Given the description of an element on the screen output the (x, y) to click on. 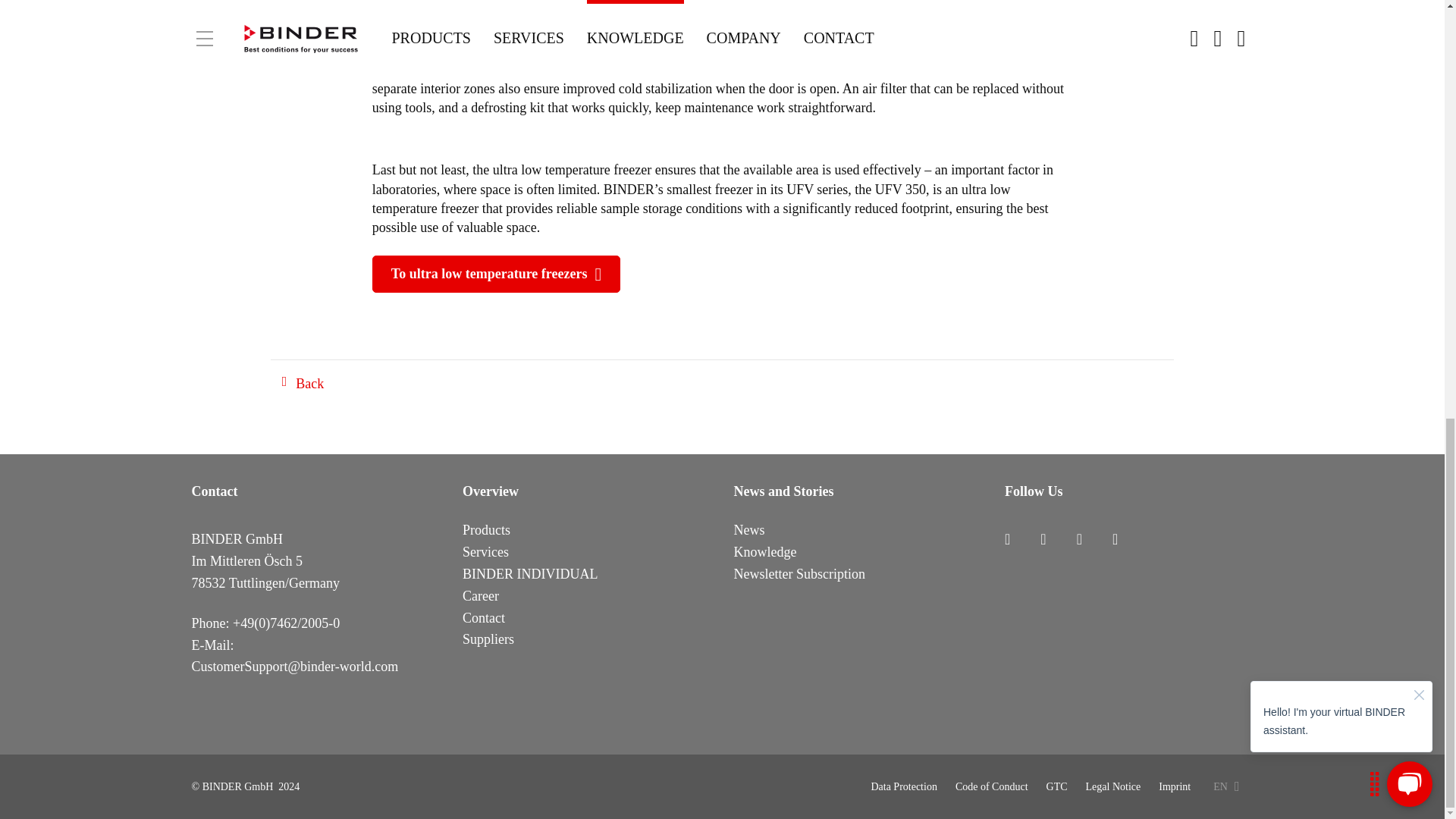
BINDER INDIVIDUAL (529, 574)
Career (481, 596)
Knowledge (764, 552)
Products (487, 530)
Contact (484, 618)
To ultra low temperature freezers (496, 273)
Legal Notice (1113, 786)
GTC (1056, 786)
Back (303, 383)
BINDER INDIVIDUAL (529, 574)
Career (481, 596)
Products (487, 530)
Data Protection (903, 786)
News (749, 530)
Services (485, 552)
